Given the description of an element on the screen output the (x, y) to click on. 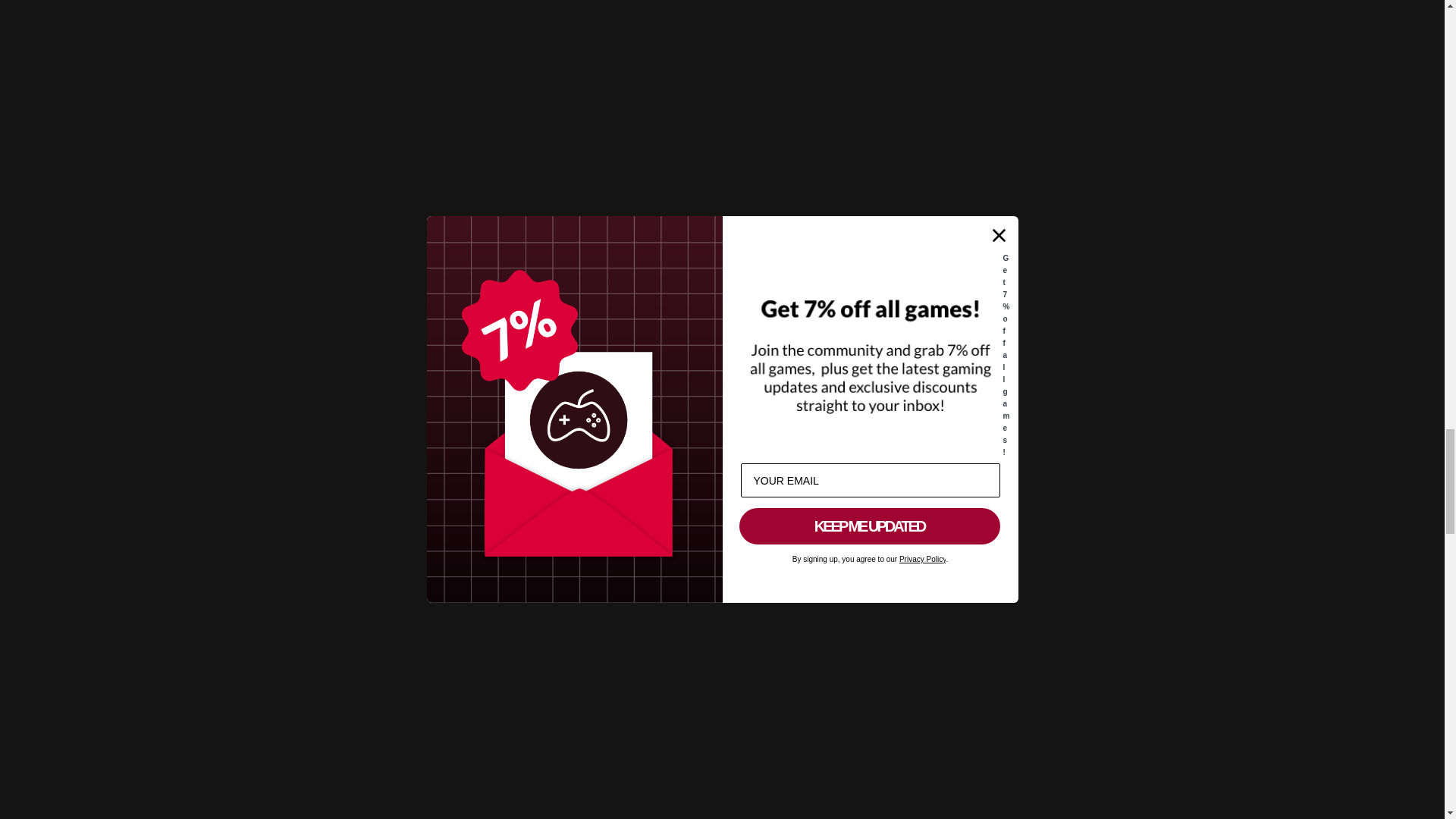
Cher's Son Is Probably The Most Handsome Man To Ever Exist (604, 802)
Cher's Son Is Probably The Most Handsome Man To Ever Exist (604, 662)
